Given the description of an element on the screen output the (x, y) to click on. 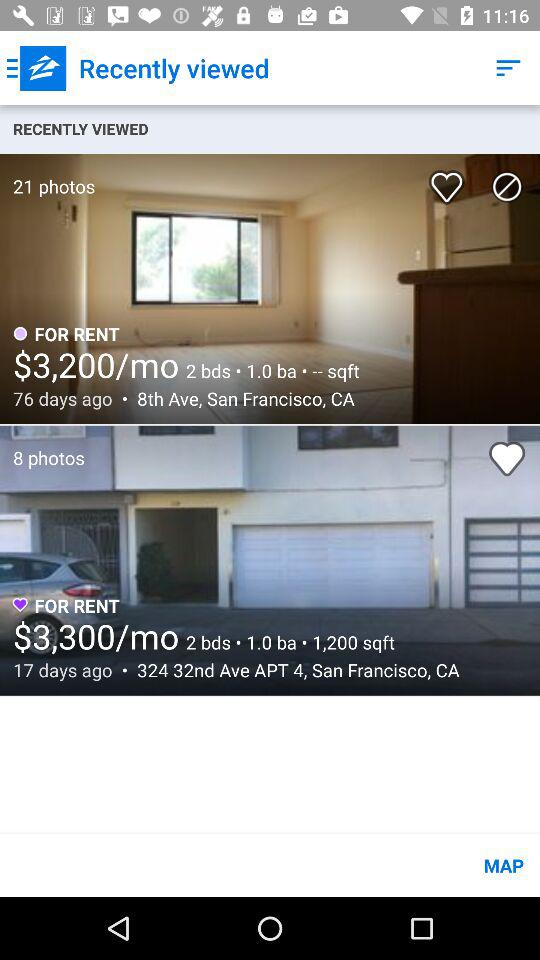
tap the icon to the left of the recently viewed app (36, 68)
